Given the description of an element on the screen output the (x, y) to click on. 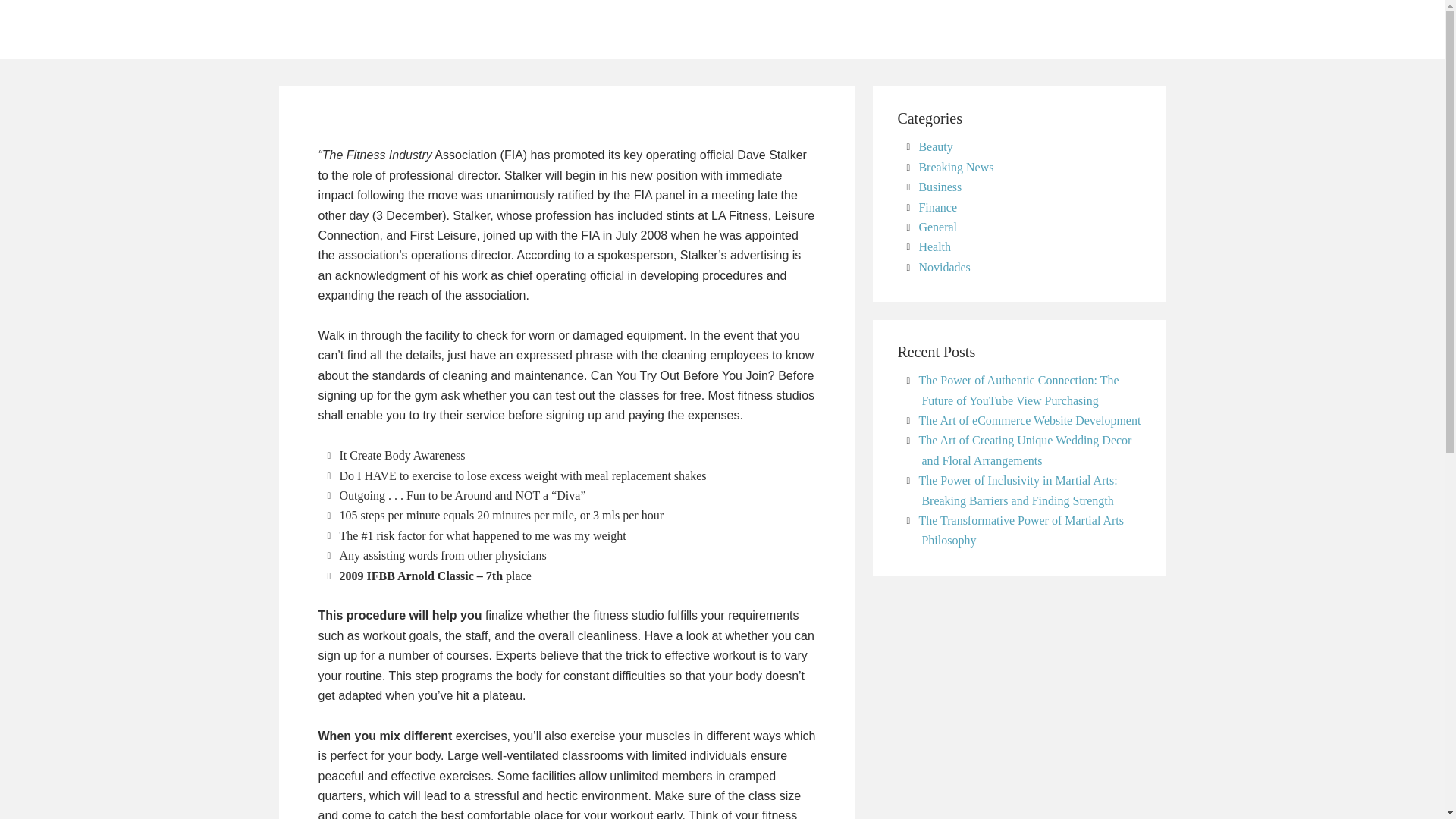
General (937, 226)
Beauty (935, 146)
Business (939, 186)
Breaking News (955, 166)
The Transformative Power of Martial Arts Philosophy (1021, 530)
Novidades (943, 267)
Health (934, 246)
Finance (937, 206)
The Art of eCommerce Website Development (1029, 420)
